Given the description of an element on the screen output the (x, y) to click on. 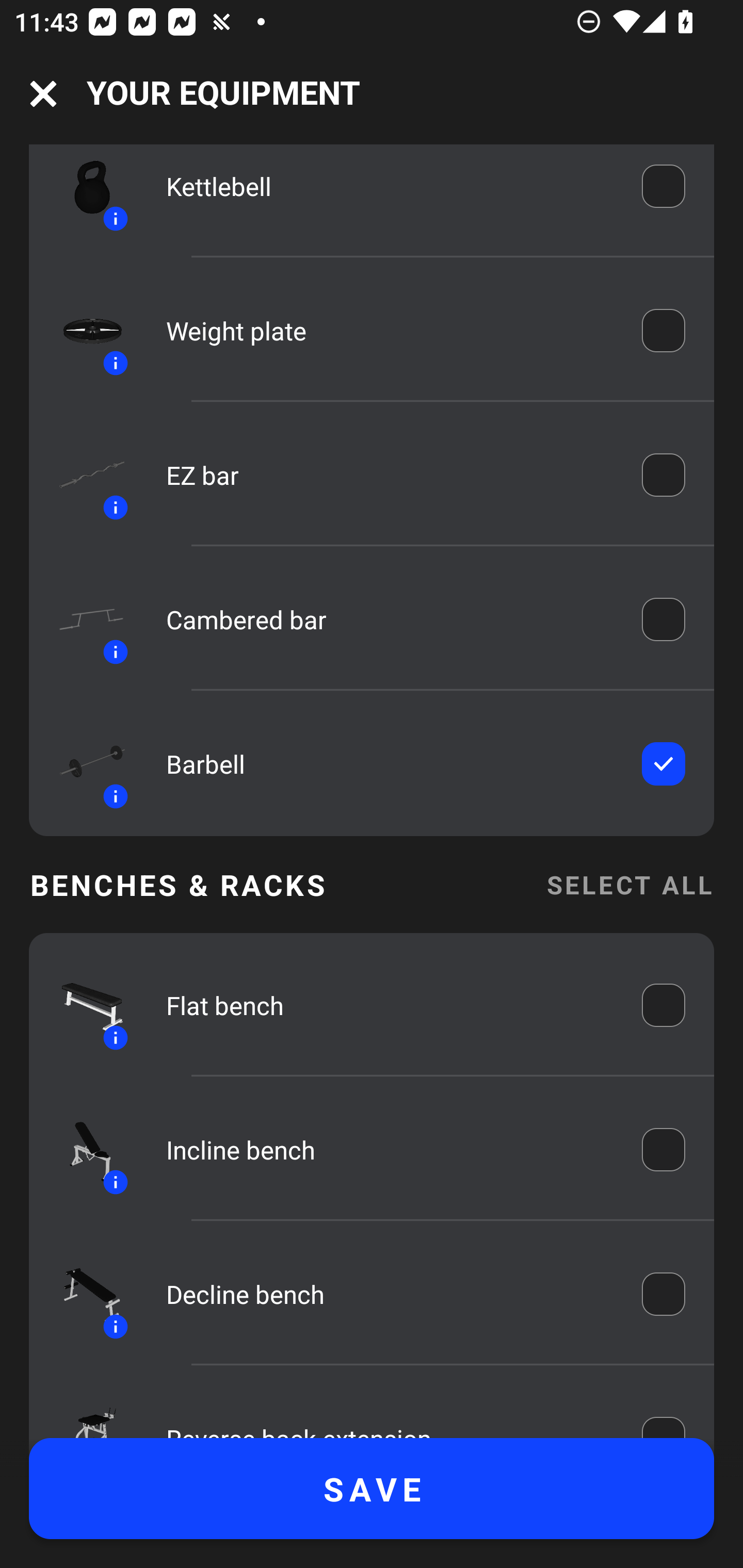
Navigation icon (43, 93)
Equipment icon Information icon (82, 191)
Kettlebell (389, 186)
Equipment icon Information icon (82, 329)
Weight plate (389, 329)
Equipment icon Information icon (82, 474)
EZ bar (389, 475)
Equipment icon Information icon (82, 620)
Cambered bar (389, 619)
Equipment icon Information icon (82, 764)
Barbell (389, 764)
SELECT ALL (629, 885)
Equipment icon Information icon (82, 1005)
Flat bench (389, 1004)
Equipment icon Information icon (82, 1150)
Incline bench (389, 1150)
Equipment icon Information icon (82, 1294)
Decline bench (389, 1294)
SAVE (371, 1488)
